Given the description of an element on the screen output the (x, y) to click on. 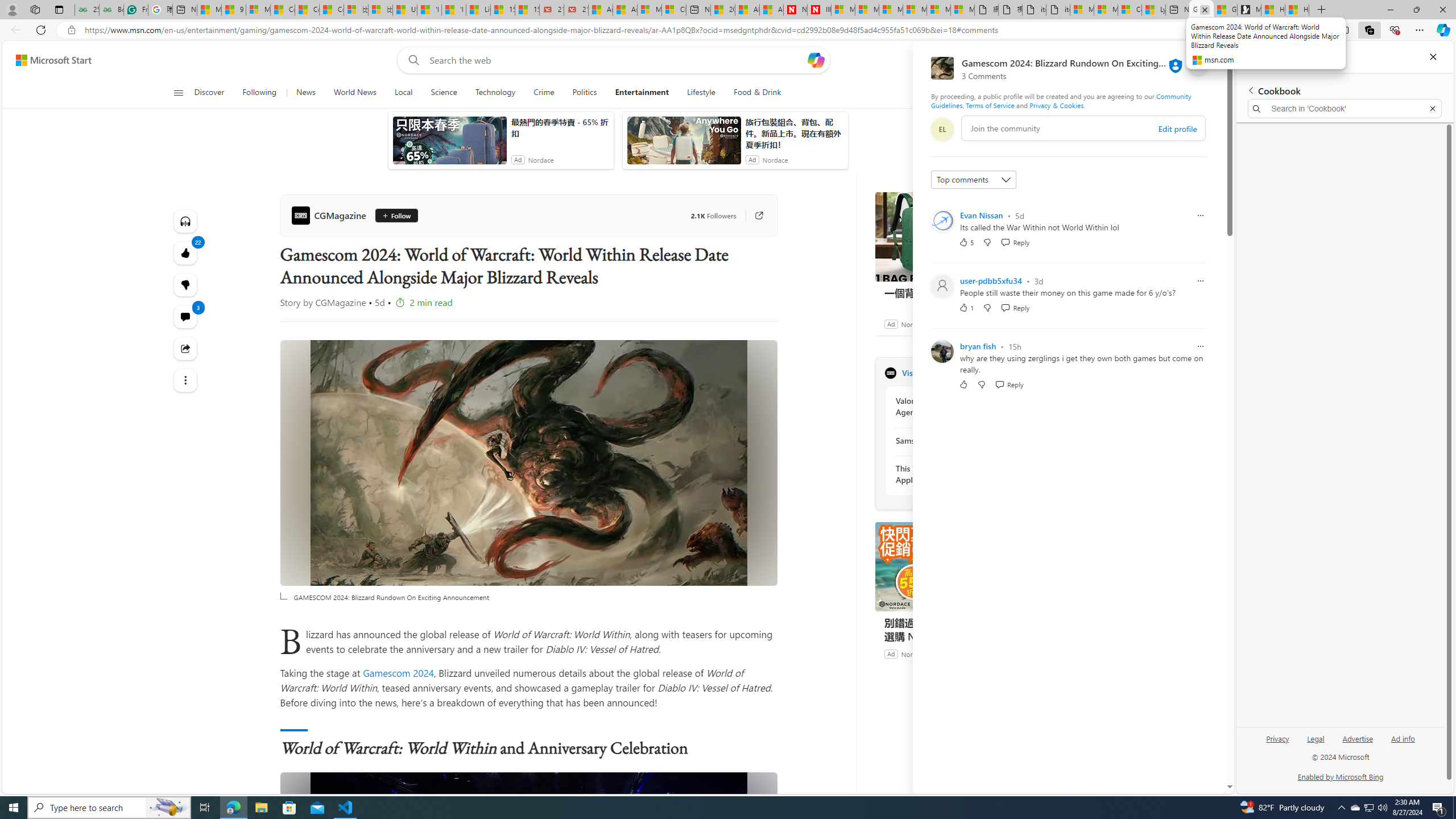
Terms of Service (989, 104)
Gamescom 2024 (397, 672)
CGMagazine (331, 215)
Enter your search term (617, 59)
Best SSL Certificates Provider in India - GeeksforGeeks (111, 9)
5 Like (965, 241)
